Given the description of an element on the screen output the (x, y) to click on. 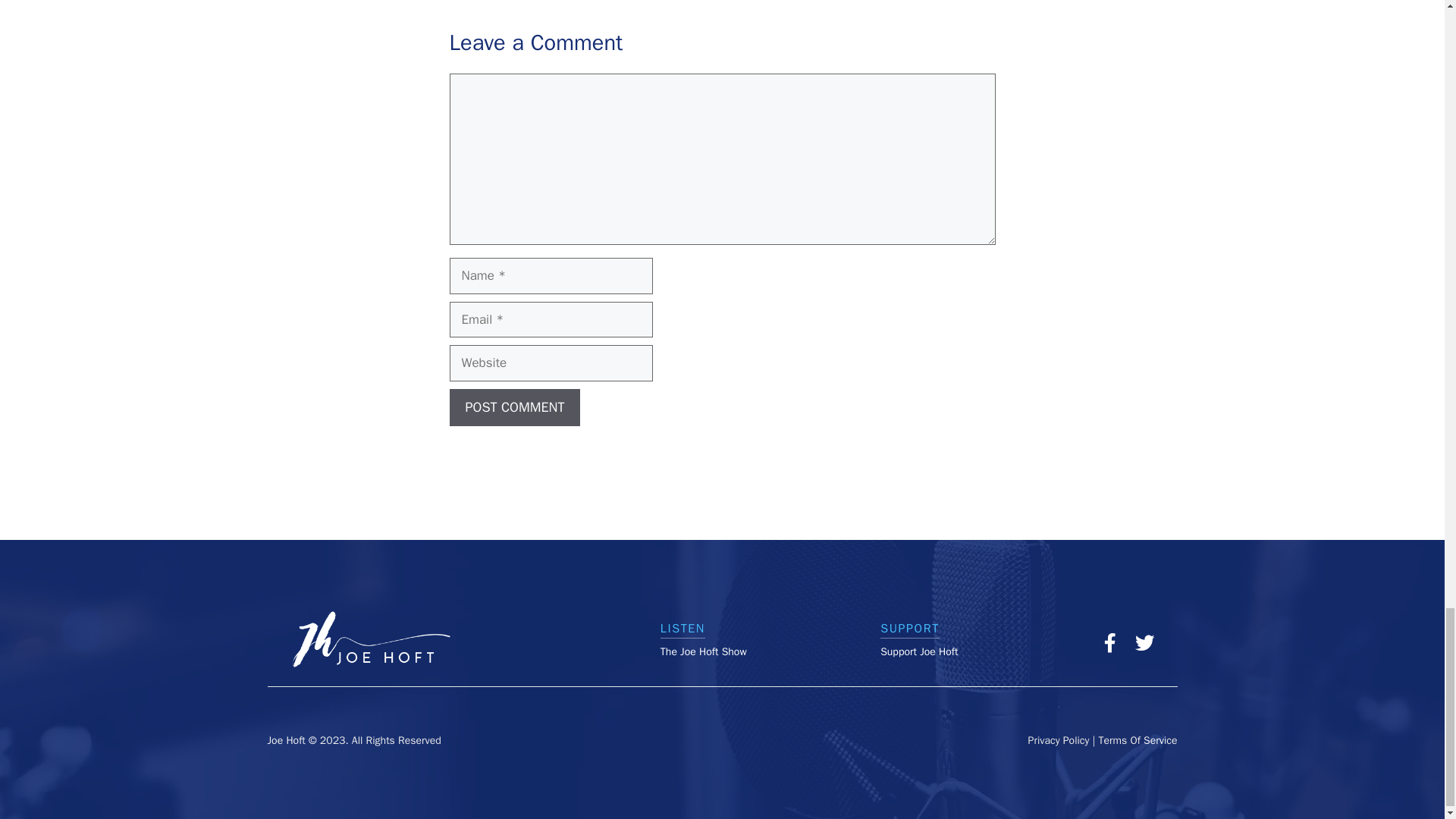
Post Comment (513, 407)
